Given the description of an element on the screen output the (x, y) to click on. 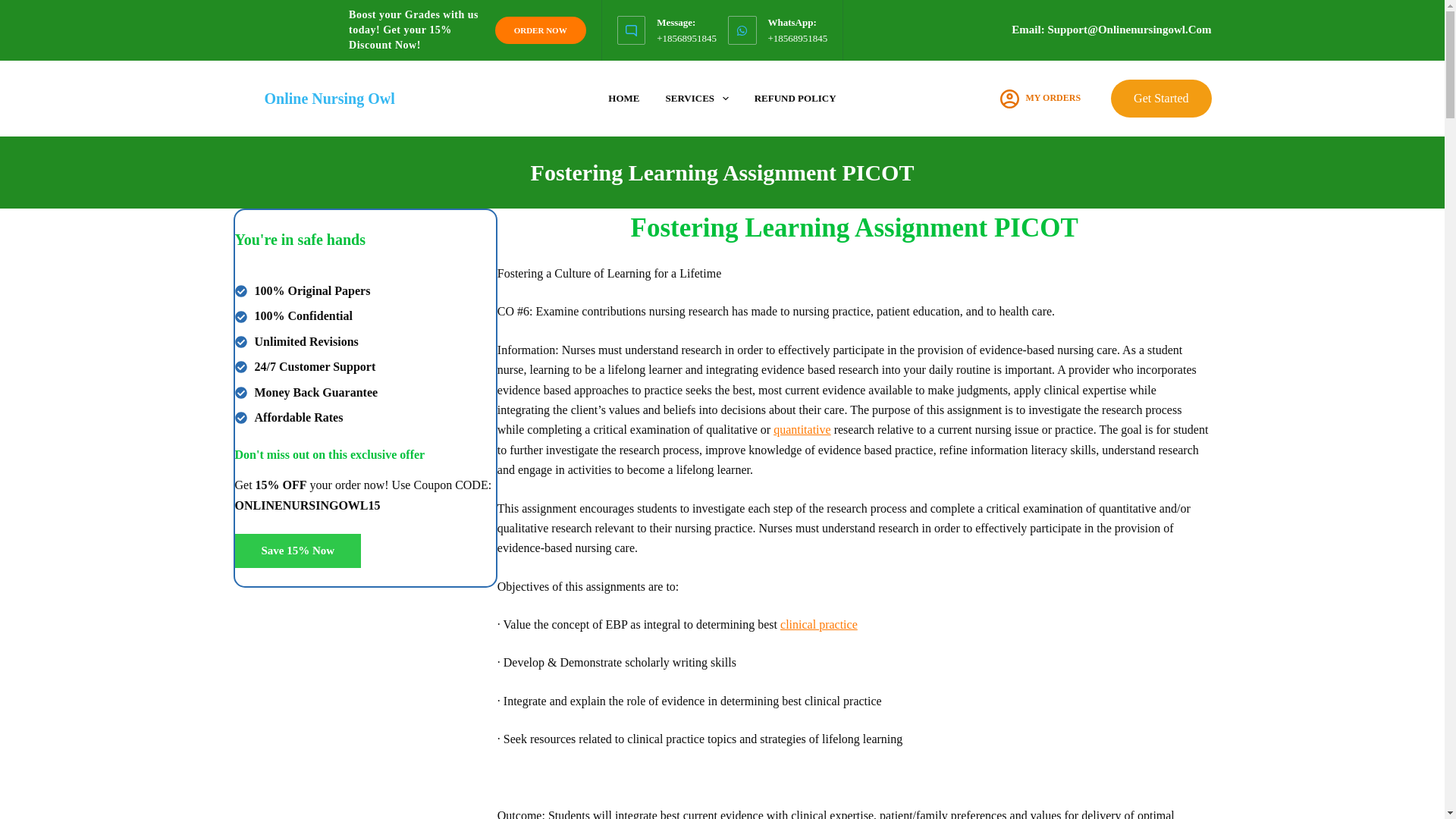
ORDER NOW (540, 30)
quantitative (802, 429)
clinical practice (818, 624)
REFUND POLICY (794, 97)
Skip to content (15, 7)
HOME (623, 97)
Fostering Learning Assignment PICOT (721, 172)
Get Started (1160, 98)
SERVICES (696, 97)
MY ORDERS (1040, 98)
Online Nursing Owl (328, 98)
